Given the description of an element on the screen output the (x, y) to click on. 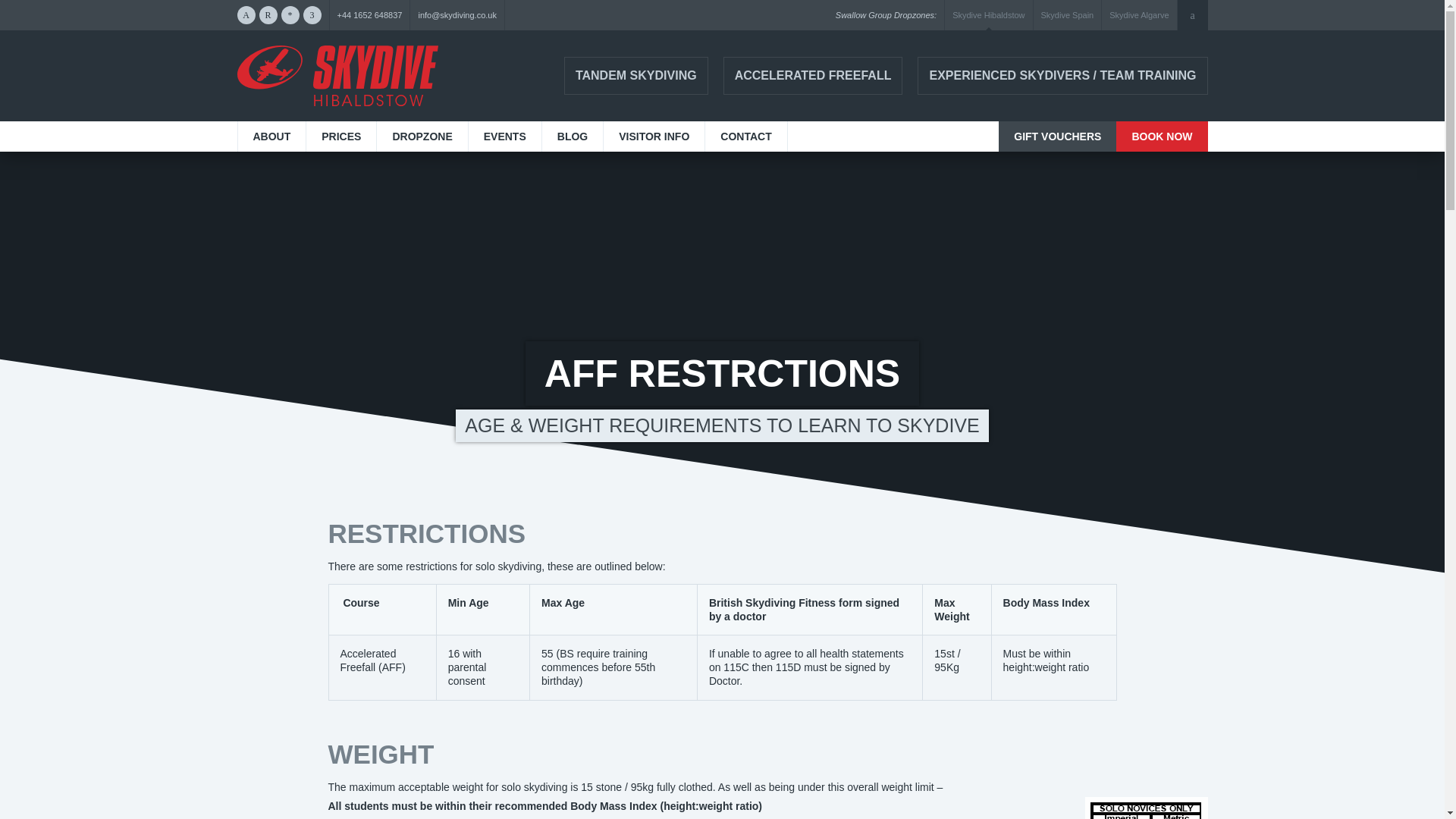
PRICES (340, 136)
Skydive Hibaldstow (336, 75)
Skydive Hibaldstow (988, 15)
TANDEM SKYDIVING (635, 75)
Skydive Algarve (1139, 15)
ACCELERATED FREEFALL (812, 75)
Skydive Spain (1067, 15)
ABOUT (271, 136)
